Given the description of an element on the screen output the (x, y) to click on. 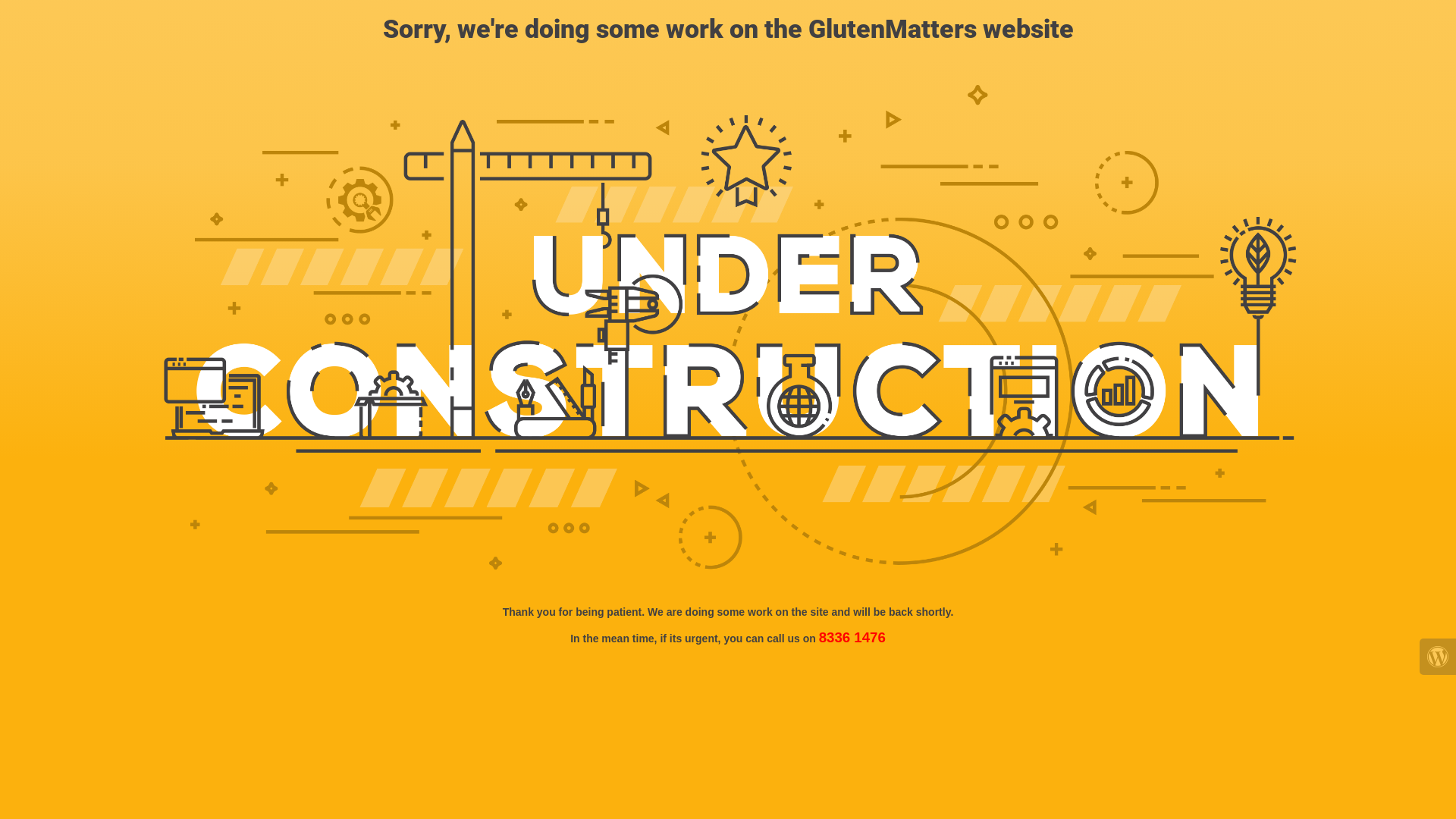
Site is Under Construction Element type: hover (727, 327)
